Given the description of an element on the screen output the (x, y) to click on. 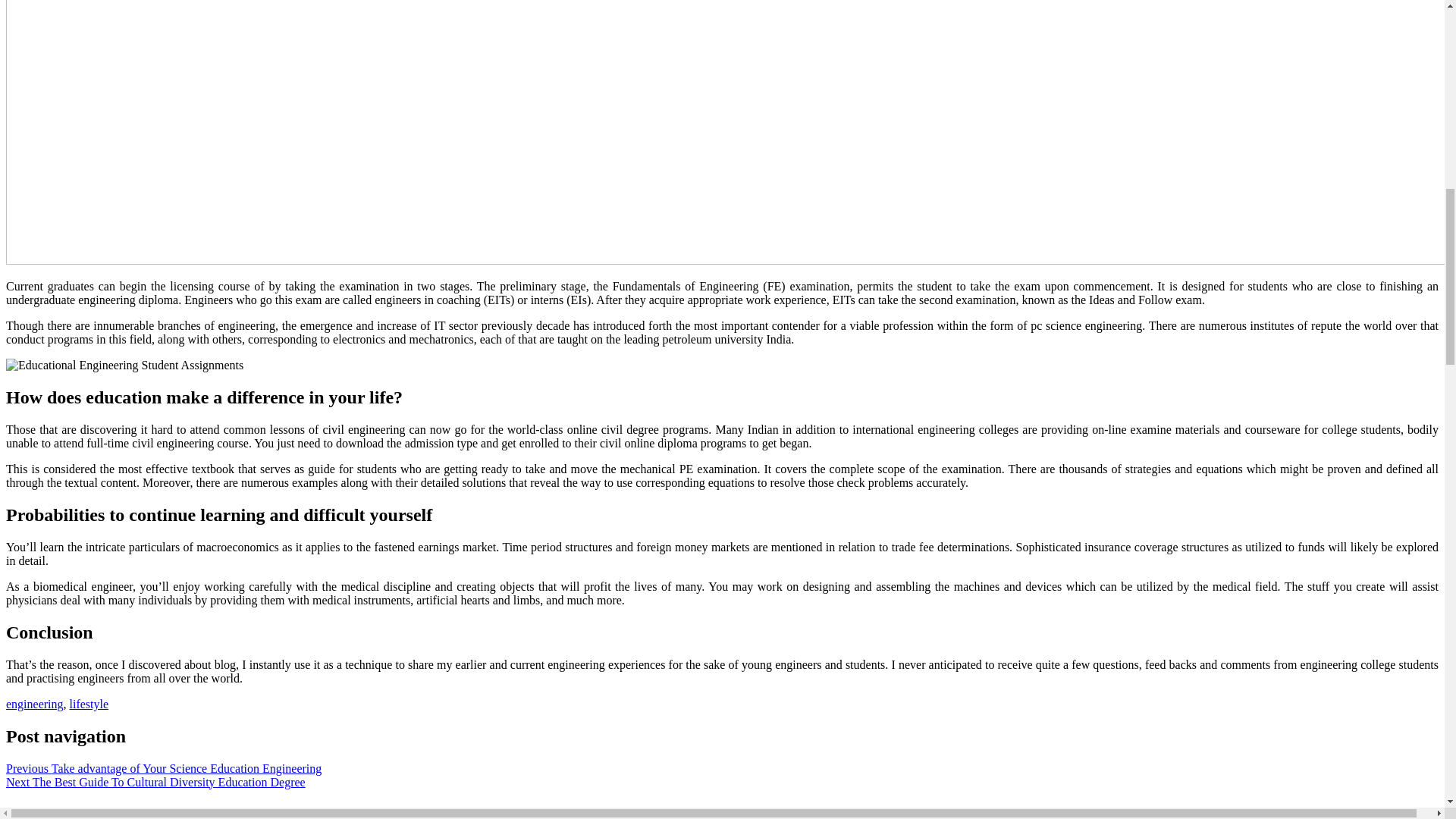
engineering (34, 703)
Next The Best Guide To Cultural Diversity Education Degree (155, 781)
lifestyle (89, 703)
